Given the description of an element on the screen output the (x, y) to click on. 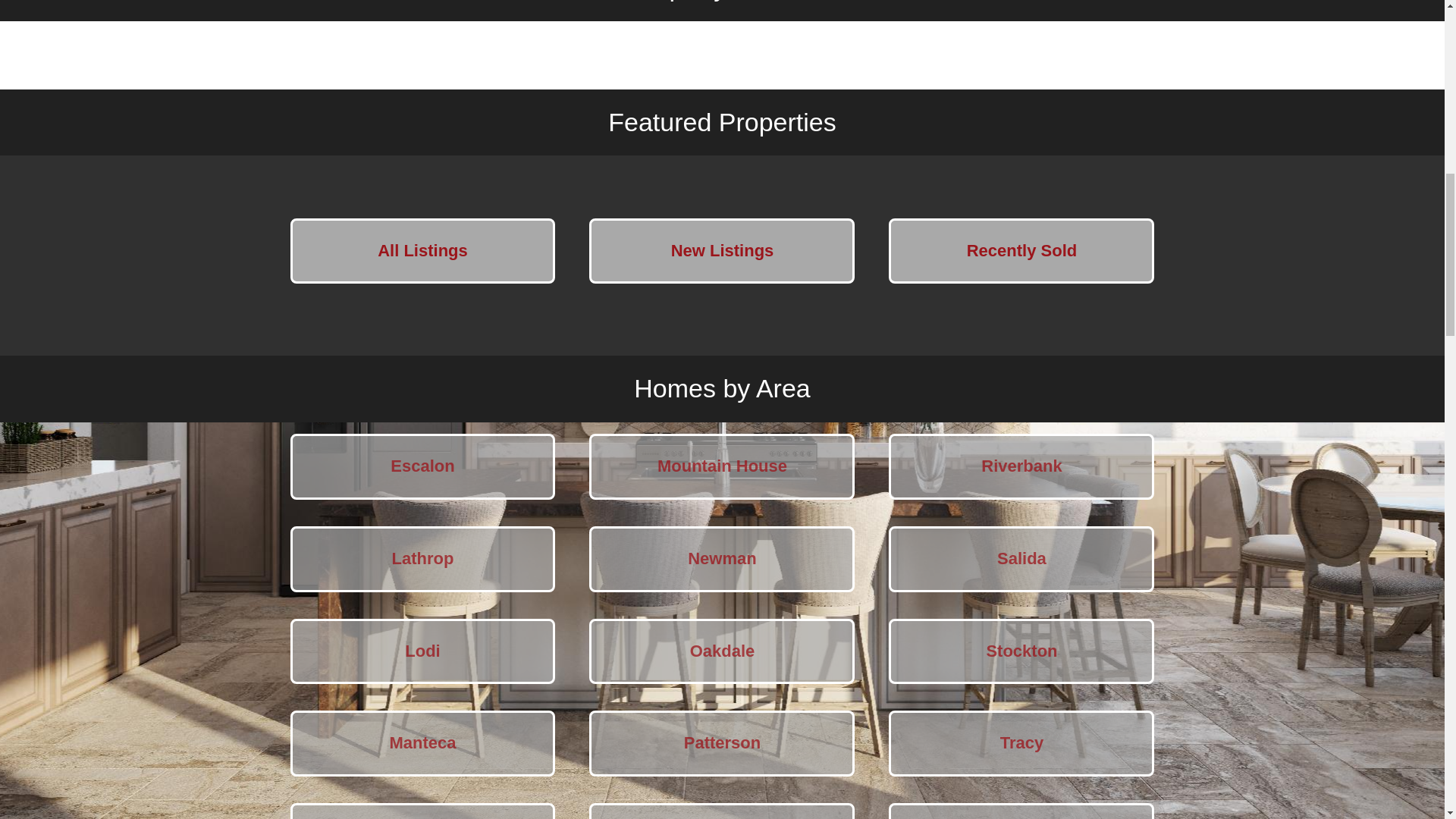
Lathrop (421, 559)
New Listings (721, 251)
Mountain House (721, 466)
Oakdale (721, 651)
Patterson (721, 743)
Recently Sold (1021, 251)
All Listings (421, 251)
Newman (721, 559)
Escalon (421, 466)
Modesto (421, 811)
Lodi (421, 651)
Manteca (421, 743)
